Given the description of an element on the screen output the (x, y) to click on. 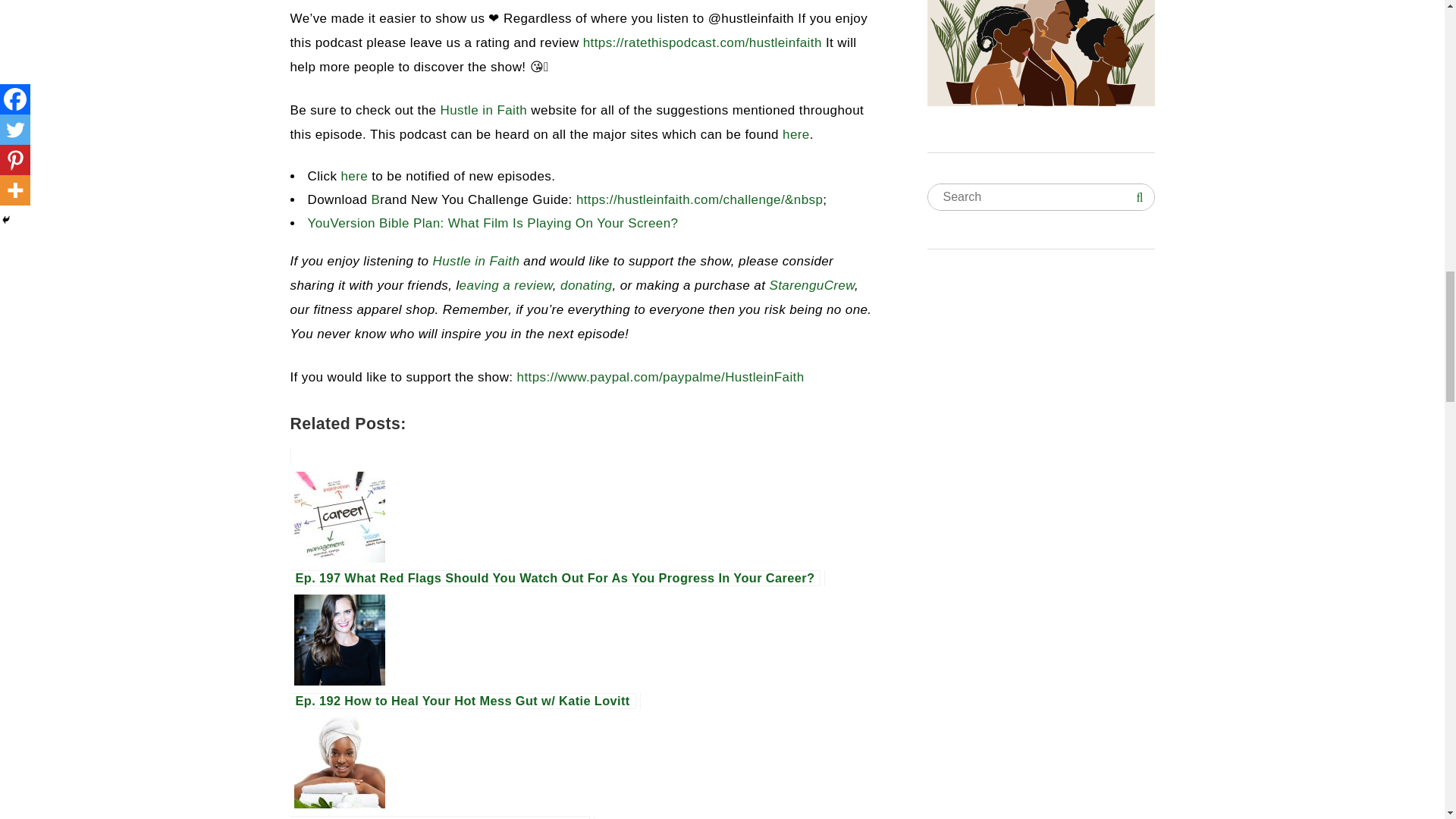
donating (584, 285)
StarenguCrew (809, 285)
eaving a review (506, 285)
here (354, 175)
here (796, 134)
Hustle in Faith (484, 110)
Ep. 189 What Does Self-Care Look Life to You? (584, 755)
YouVersion Bible Plan: What Film Is Playing On Your Screen? (492, 223)
Hustle in Faith (473, 260)
